Given the description of an element on the screen output the (x, y) to click on. 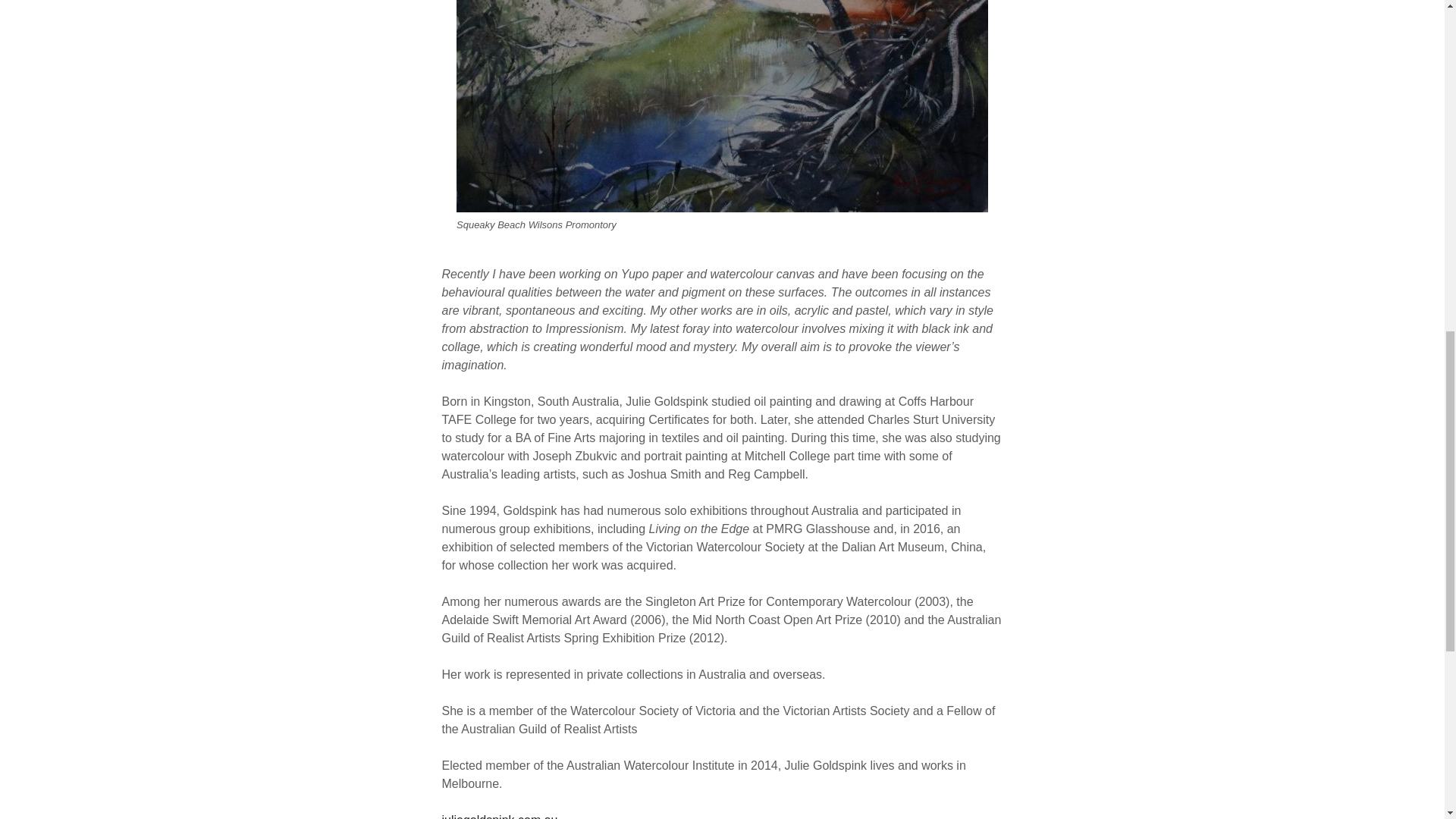
juliegoldspink.com.au (499, 816)
